Given the description of an element on the screen output the (x, y) to click on. 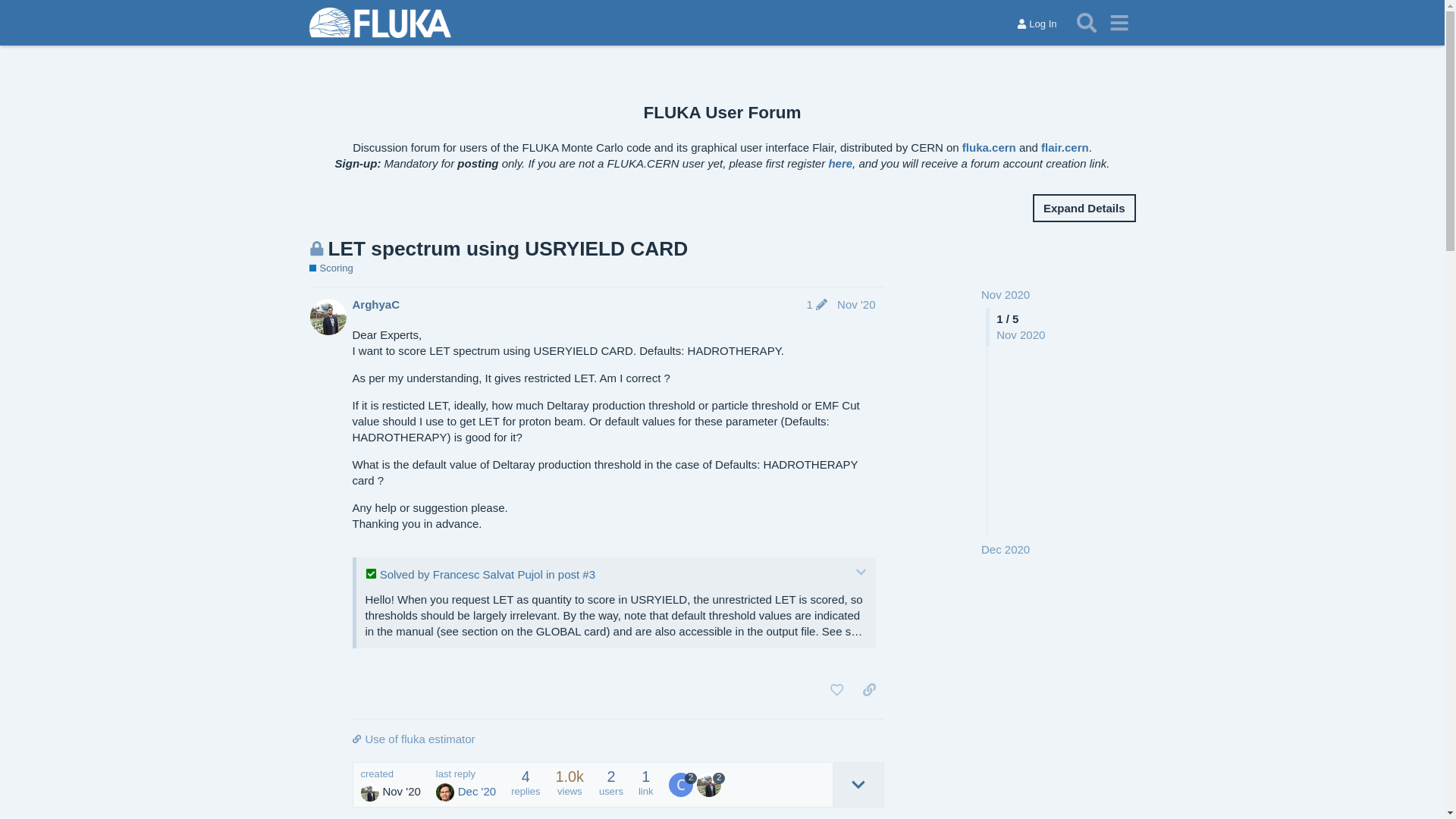
expand topic details Element type: hover (857, 784)
Search Element type: hover (1086, 22)
expand/collapse Element type: hover (860, 571)
ArghyaC Element type: hover (708, 784)
FLUKA User Forum Element type: text (722, 112)
2 Element type: text (682, 784)
LET spectrum using USRYIELD CARD Element type: text (507, 248)
ArghyaC Element type: hover (369, 792)
fluka.cern Element type: text (989, 147)
share a link to this post Element type: hover (869, 689)
This topic is closed; it no longer accepts new replies Element type: hover (316, 248)
Francesc Salvat Pujol Element type: text (487, 573)
last reply
Dec '20 Element type: text (465, 784)
1 Element type: text (816, 304)
Nov '20 Element type: text (856, 304)
Nov 2020 Element type: text (1005, 294)
post #3 Element type: text (576, 573)
Dec 2020 Element type: text (1005, 549)
menu Element type: hover (1119, 22)
Use of fluka estimator Element type: text (617, 738)
Log In Element type: text (1036, 23)
ArghyaC Element type: text (375, 304)
Scoring Element type: text (331, 268)
2 Element type: text (710, 784)
Francesc Salvat Pujol Element type: hover (680, 784)
here Element type: text (840, 162)
flair.cern Element type: text (1064, 147)
like this post Element type: hover (836, 689)
Expand Details Element type: text (1084, 207)
